Given the description of an element on the screen output the (x, y) to click on. 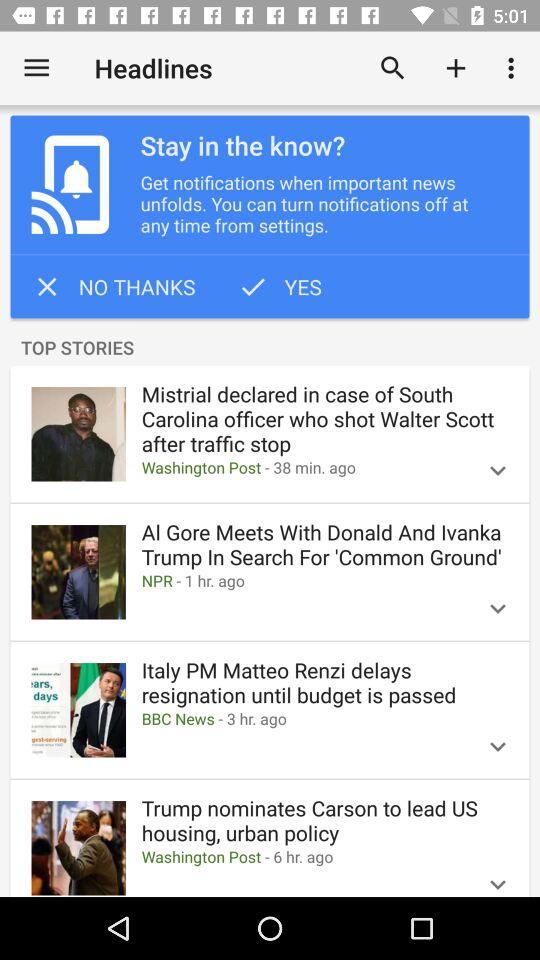
turn on trump nominates carson item (324, 820)
